Given the description of an element on the screen output the (x, y) to click on. 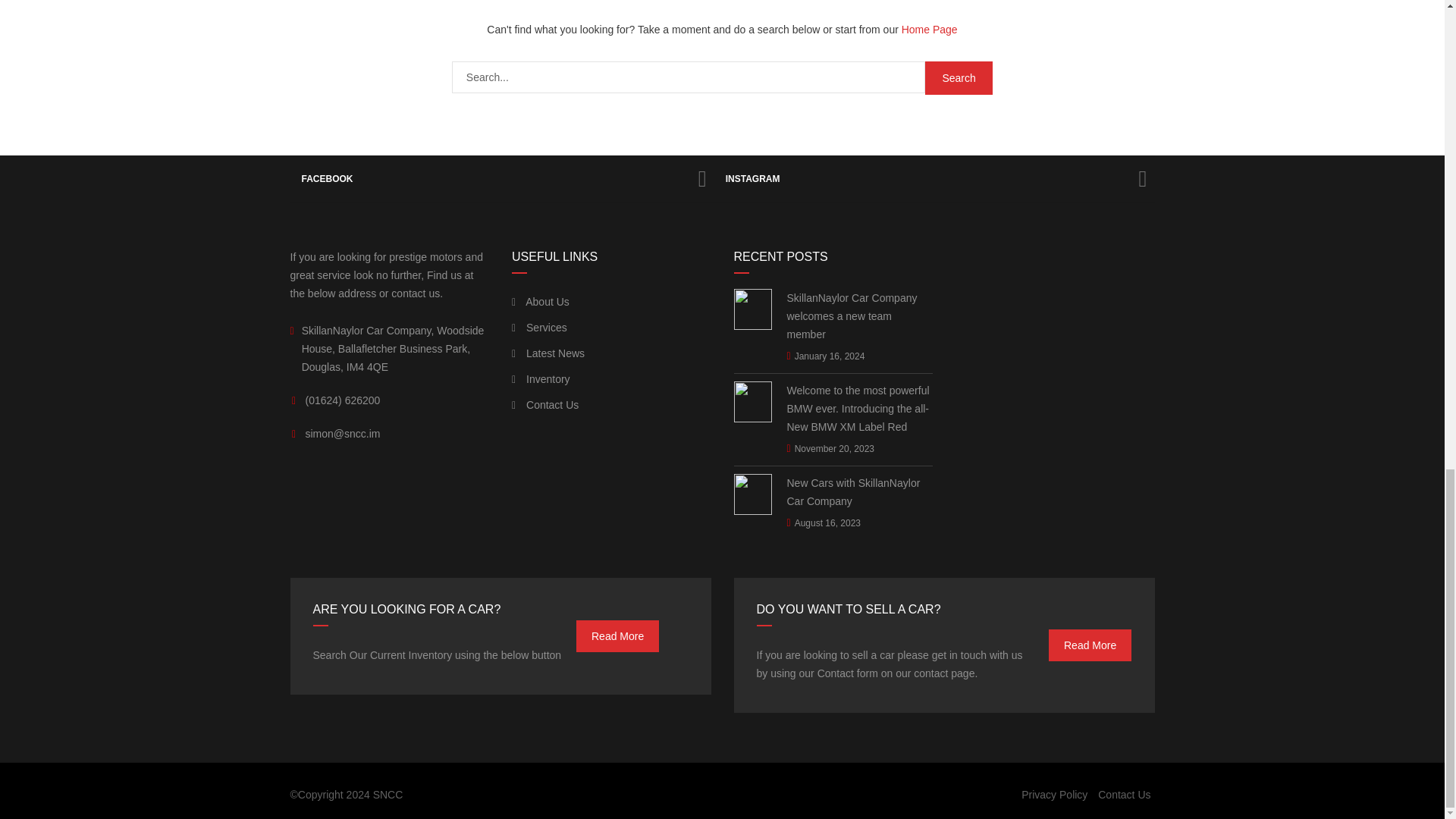
Search (958, 78)
Contact Us (1123, 794)
Services (539, 327)
INSTAGRAM (934, 178)
Latest News (548, 352)
Home Page (929, 29)
New Cars with SkillanNaylor Car Company (860, 492)
Contact Us (545, 404)
SkillanNaylor Car Company welcomes a new team member (860, 316)
SNCC (387, 794)
Search (958, 78)
Read More (617, 635)
Inventory (541, 379)
Search for: (687, 77)
